Given the description of an element on the screen output the (x, y) to click on. 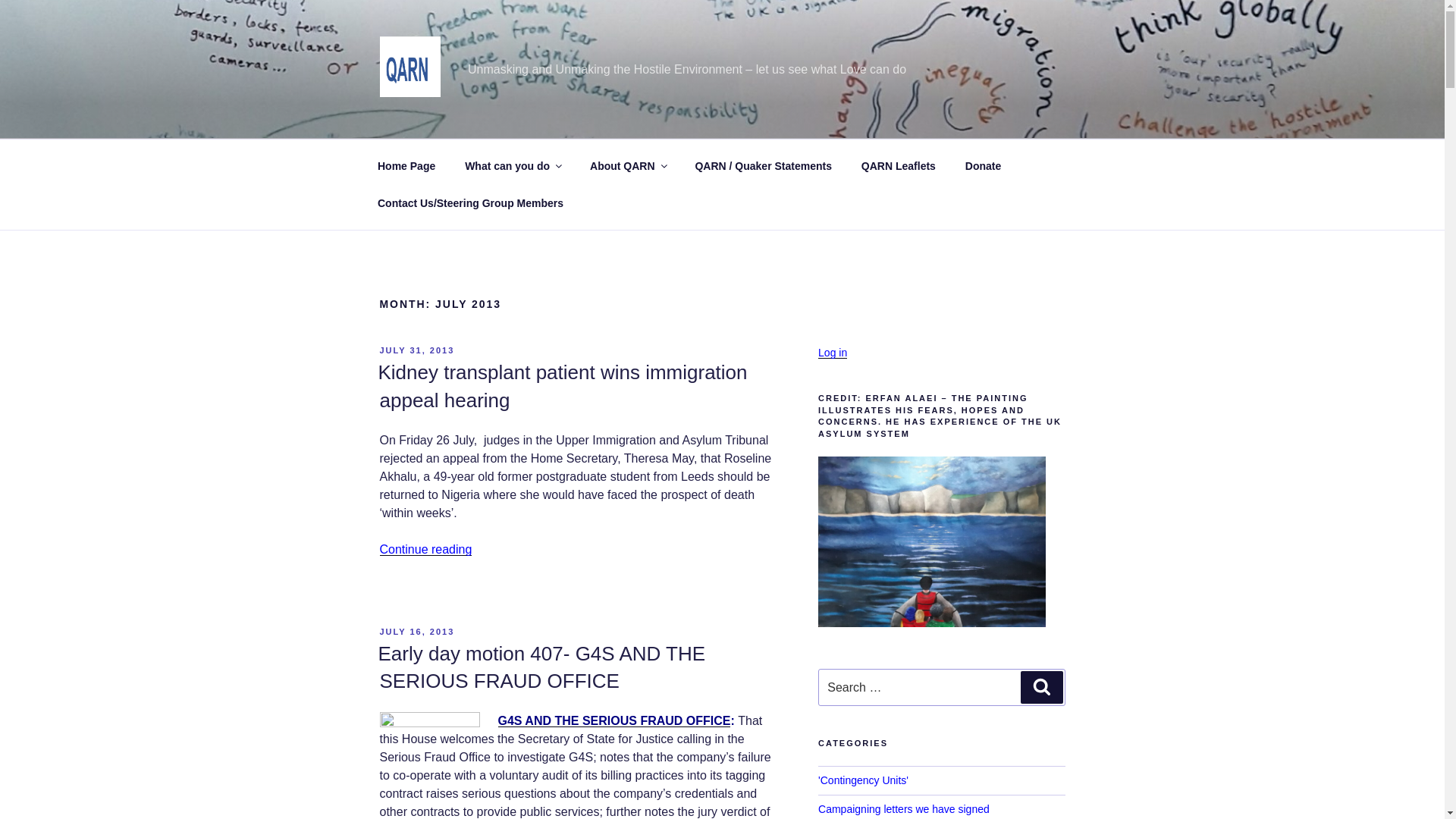
Search (1041, 686)
QARN Leaflets (898, 165)
'Contingency Units' (863, 779)
Home Page (406, 165)
G4S AND THE SERIOUS FRAUD OFFICE (613, 720)
JULY 31, 2013 (416, 349)
Early day motion 407- G4S AND THE SERIOUS FRAUD OFFICE (540, 667)
Log in (832, 352)
JULY 16, 2013 (416, 631)
Donate (982, 165)
Kidney transplant patient wins immigration appeal hearing (561, 386)
Campaigning letters we have signed (904, 808)
About QARN (627, 165)
What can you do (512, 165)
